Given the description of an element on the screen output the (x, y) to click on. 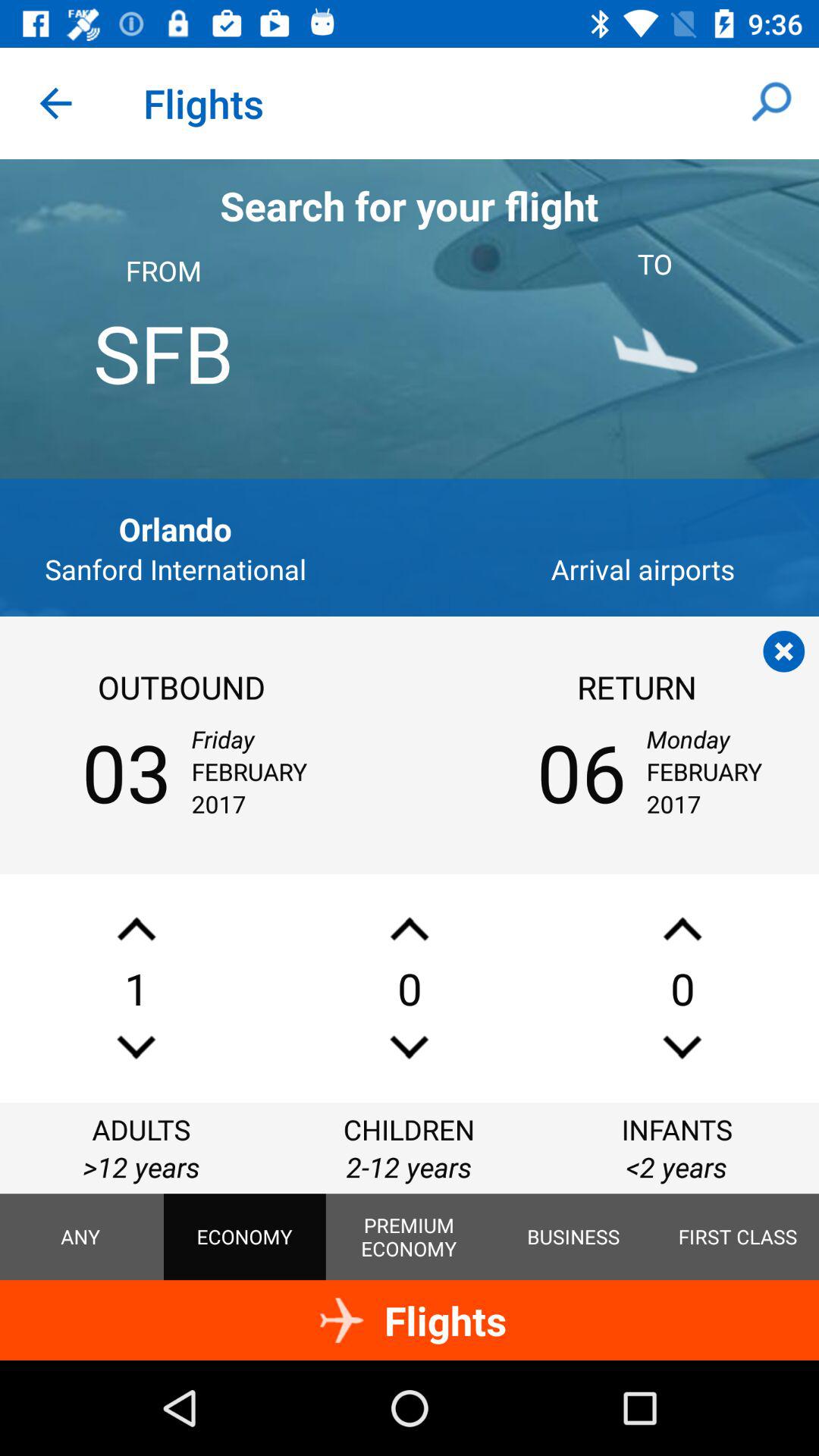
choose the icon above the flights (573, 1236)
